Given the description of an element on the screen output the (x, y) to click on. 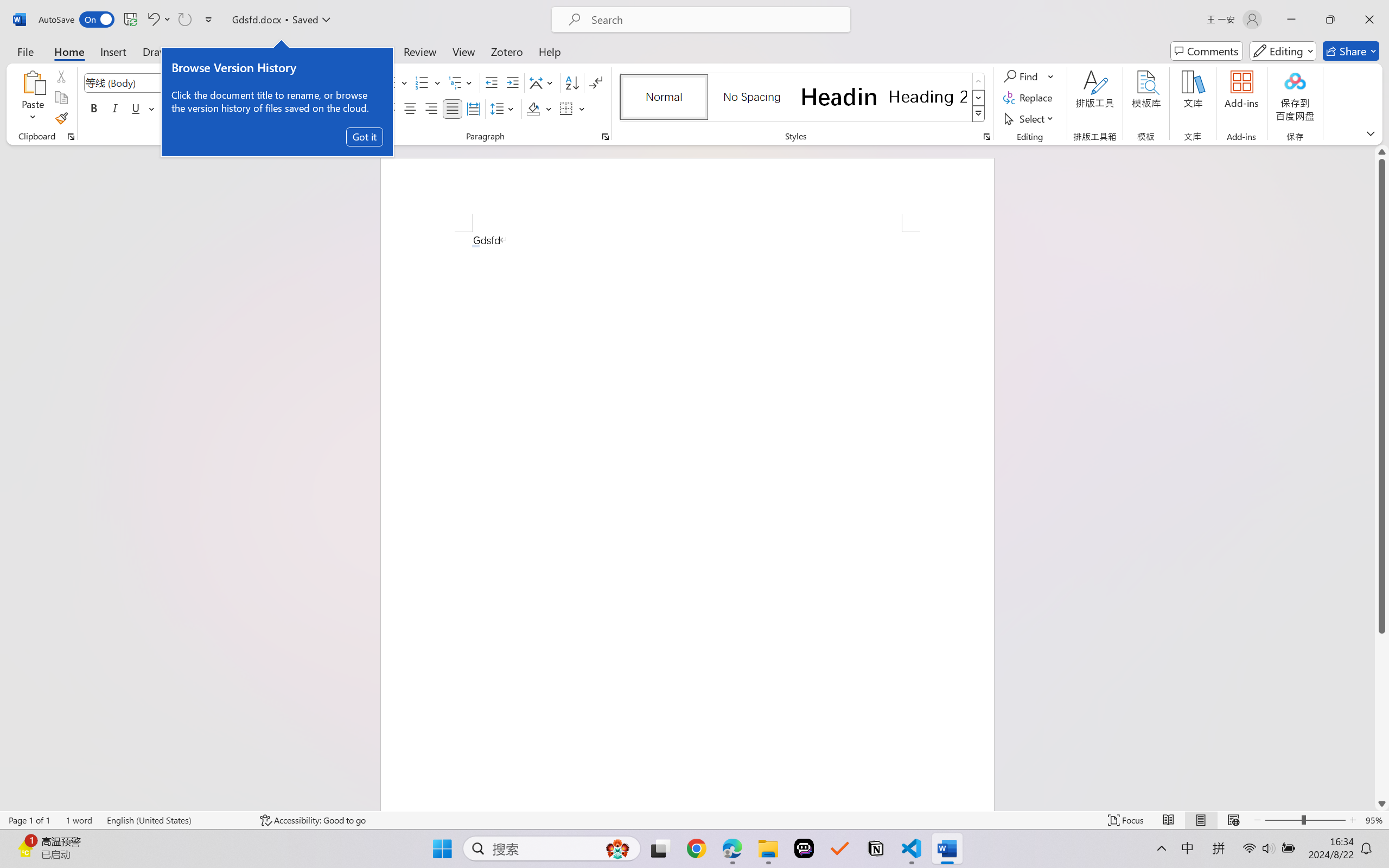
Shading (539, 108)
Distributed (473, 108)
